Given the description of an element on the screen output the (x, y) to click on. 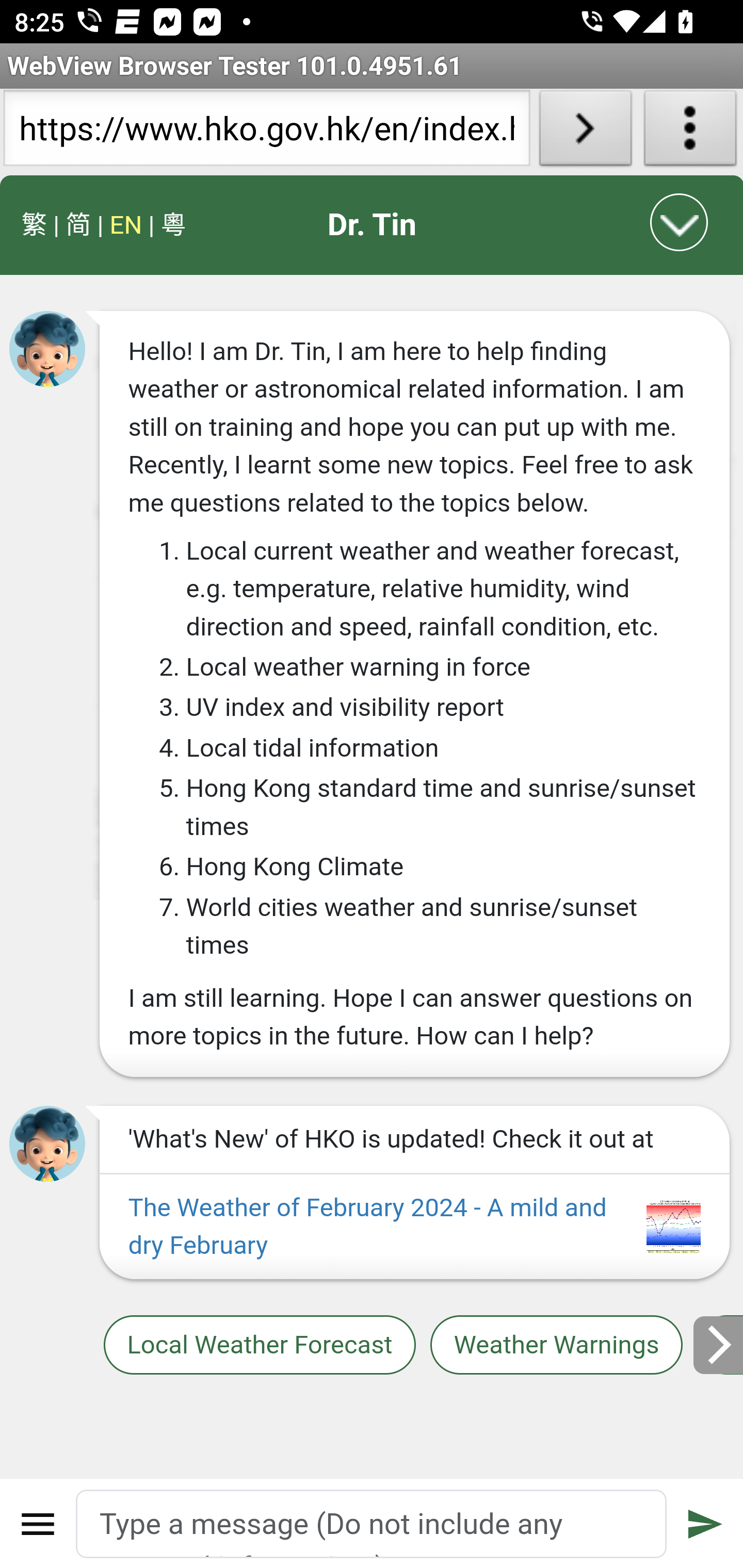
https://www.hko.gov.hk/en/index.html (266, 132)
Load URL (585, 132)
About WebView (690, 132)
Close (679, 221)
繁 (34, 224)
简 (78, 224)
EN (125, 224)
粵 (173, 224)
Local Weather Forecast (259, 1344)
Weather Warnings (556, 1344)
Next slide (718, 1343)
UV Radiation Information (718, 1344)
Menu (38, 1523)
Submit (704, 1523)
